Given the description of an element on the screen output the (x, y) to click on. 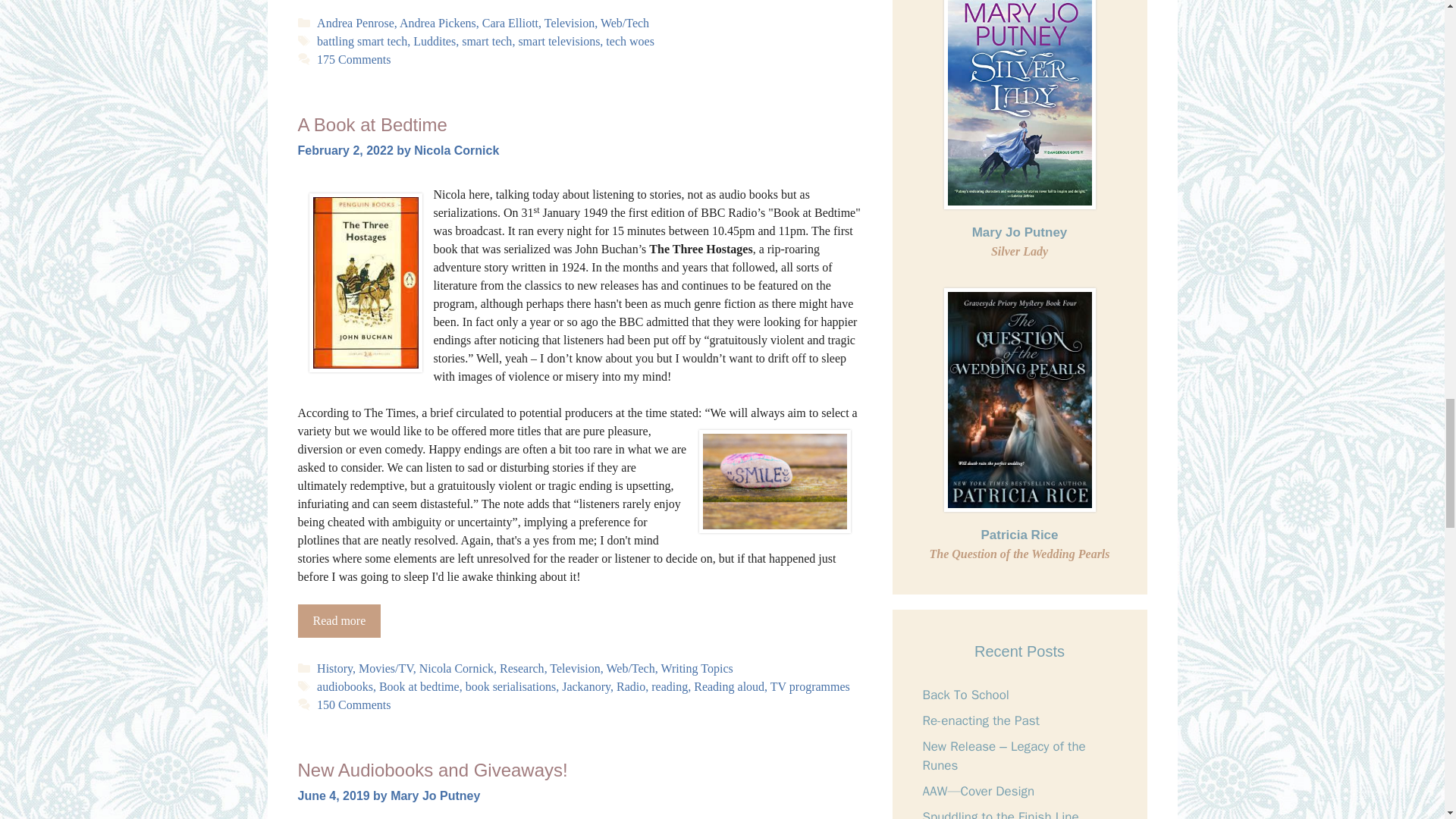
View all posts by Mary Jo Putney (435, 795)
A Book at Bedtime (338, 621)
View all posts by Nicola Cornick (456, 150)
